Given the description of an element on the screen output the (x, y) to click on. 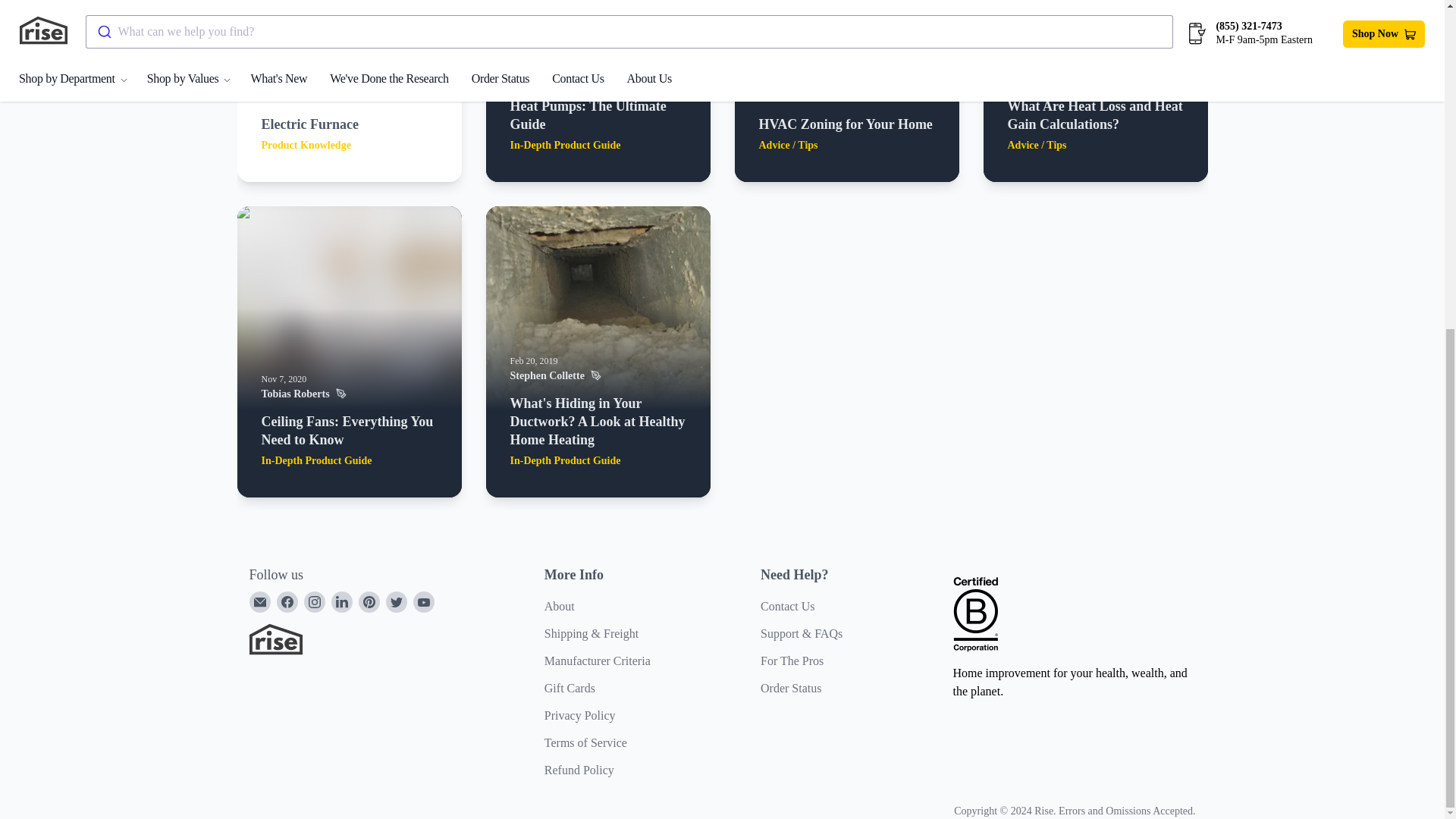
Tobias Roberts, Rise Writer (1094, 78)
Maria Saxton, Rise Writer (846, 96)
Tobias Roberts, Rise Writer (348, 393)
Tobias Roberts, Rise Writer (597, 78)
Stephen Collette, Rise Writer (597, 375)
